Given the description of an element on the screen output the (x, y) to click on. 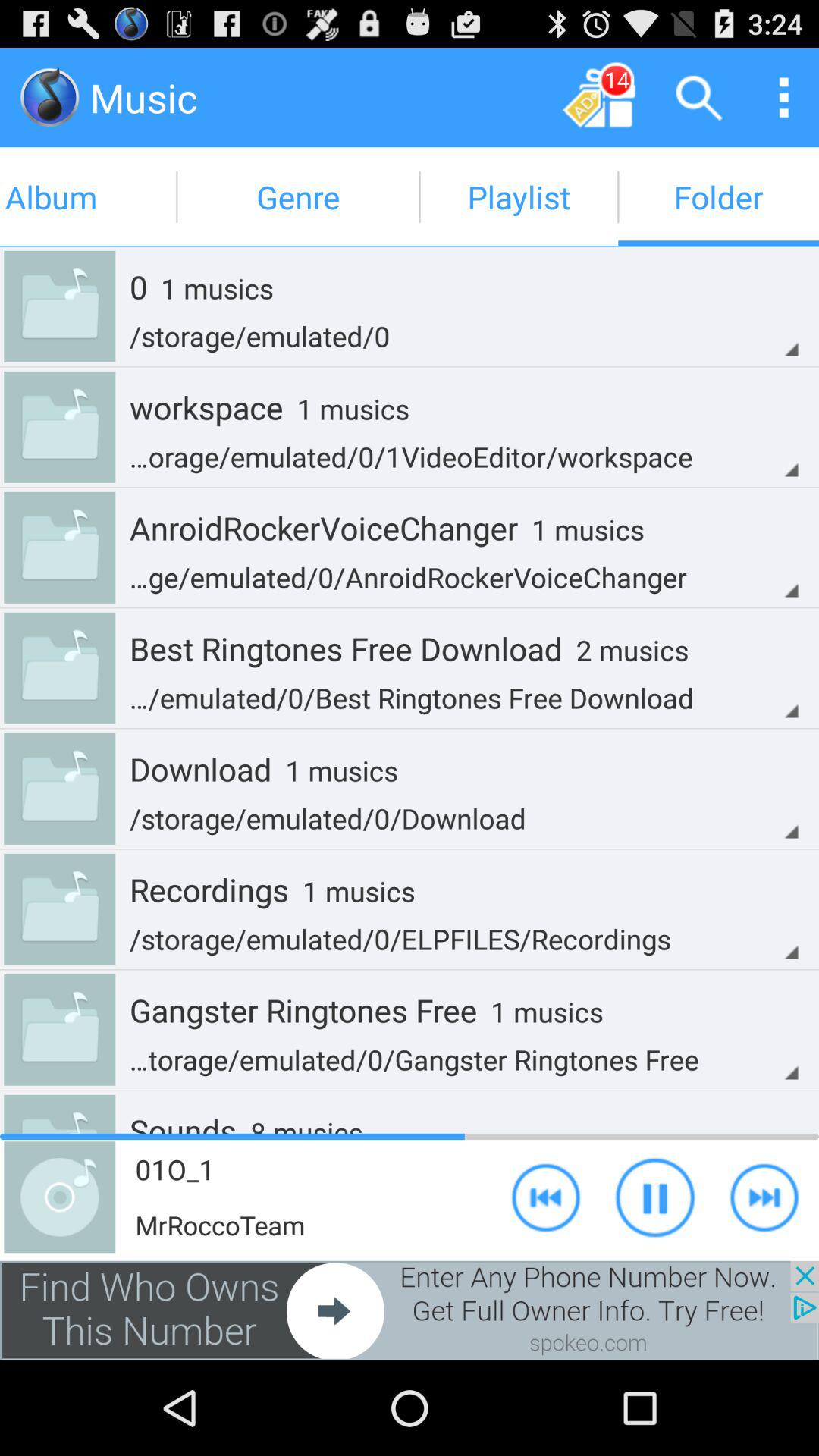
go ton meanu (784, 97)
